Given the description of an element on the screen output the (x, y) to click on. 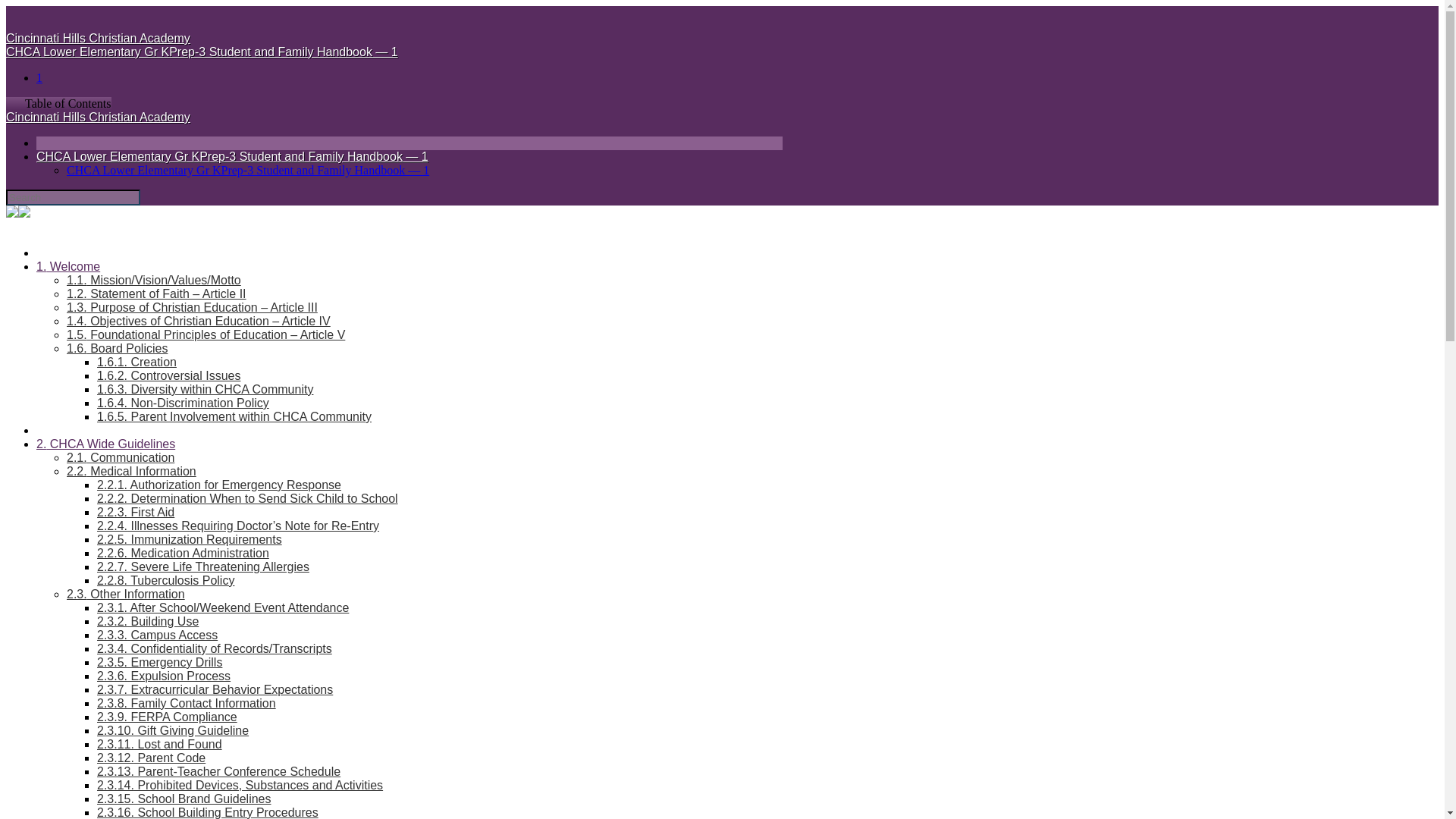
2.3. Other Information (125, 594)
Cincinnati Hills Christian Academy (97, 38)
2.1. Communication (120, 457)
2.3.2. Building Use (147, 621)
2.2.6. Medication Administration (183, 553)
1.6.1. Creation (136, 361)
2.2. Medical Information (131, 471)
2.2.1. Authorization for Emergency Response (218, 484)
2.2.7. Severe Life Threatening Allergies (202, 566)
1.6.4. Non-Discrimination Policy (183, 402)
2.3.5. Emergency Drills (159, 662)
1.6.2. Controversial Issues (168, 375)
Cincinnati Hills Christian Academy (97, 116)
2. CHCA Wide Guidelines (105, 443)
2.2.5. Immunization Requirements (189, 539)
